Given the description of an element on the screen output the (x, y) to click on. 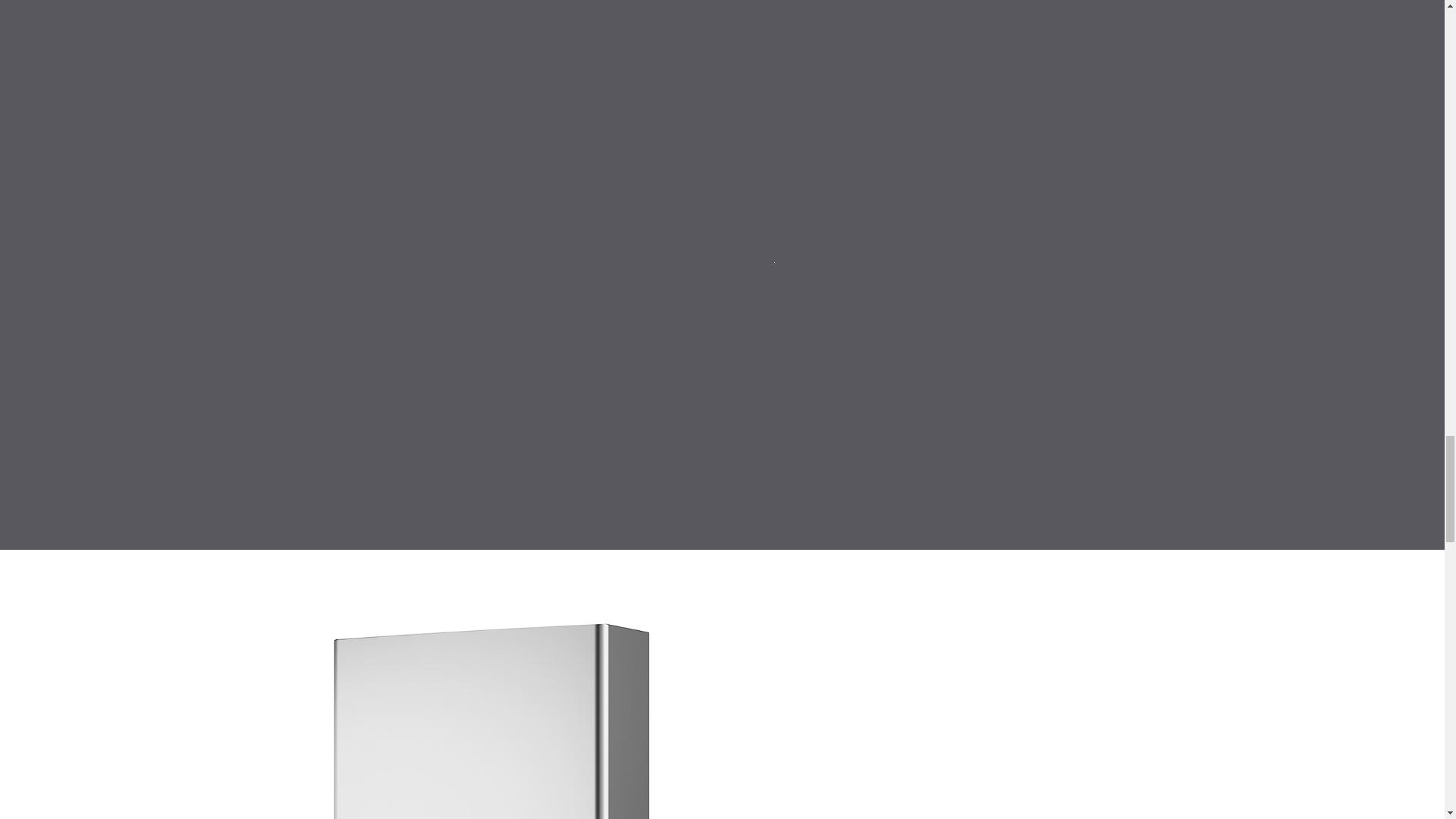
Storage-05 (491, 714)
